Given the description of an element on the screen output the (x, y) to click on. 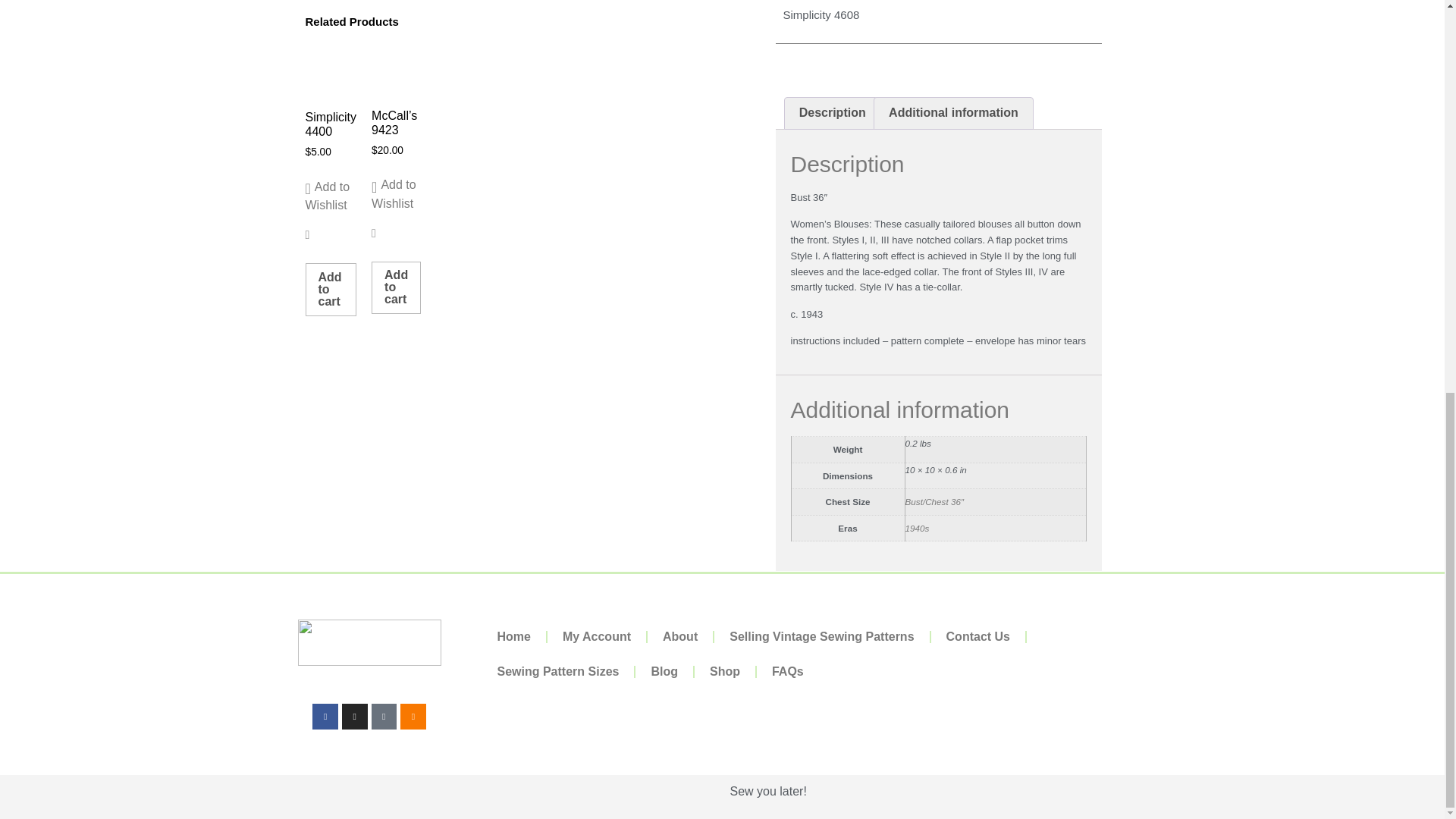
Add to Wishlist (395, 194)
1940s (917, 528)
Add to cart (330, 289)
Add to Wishlist (330, 196)
Additional information (953, 113)
Add to cart (395, 287)
Description (831, 113)
